Given the description of an element on the screen output the (x, y) to click on. 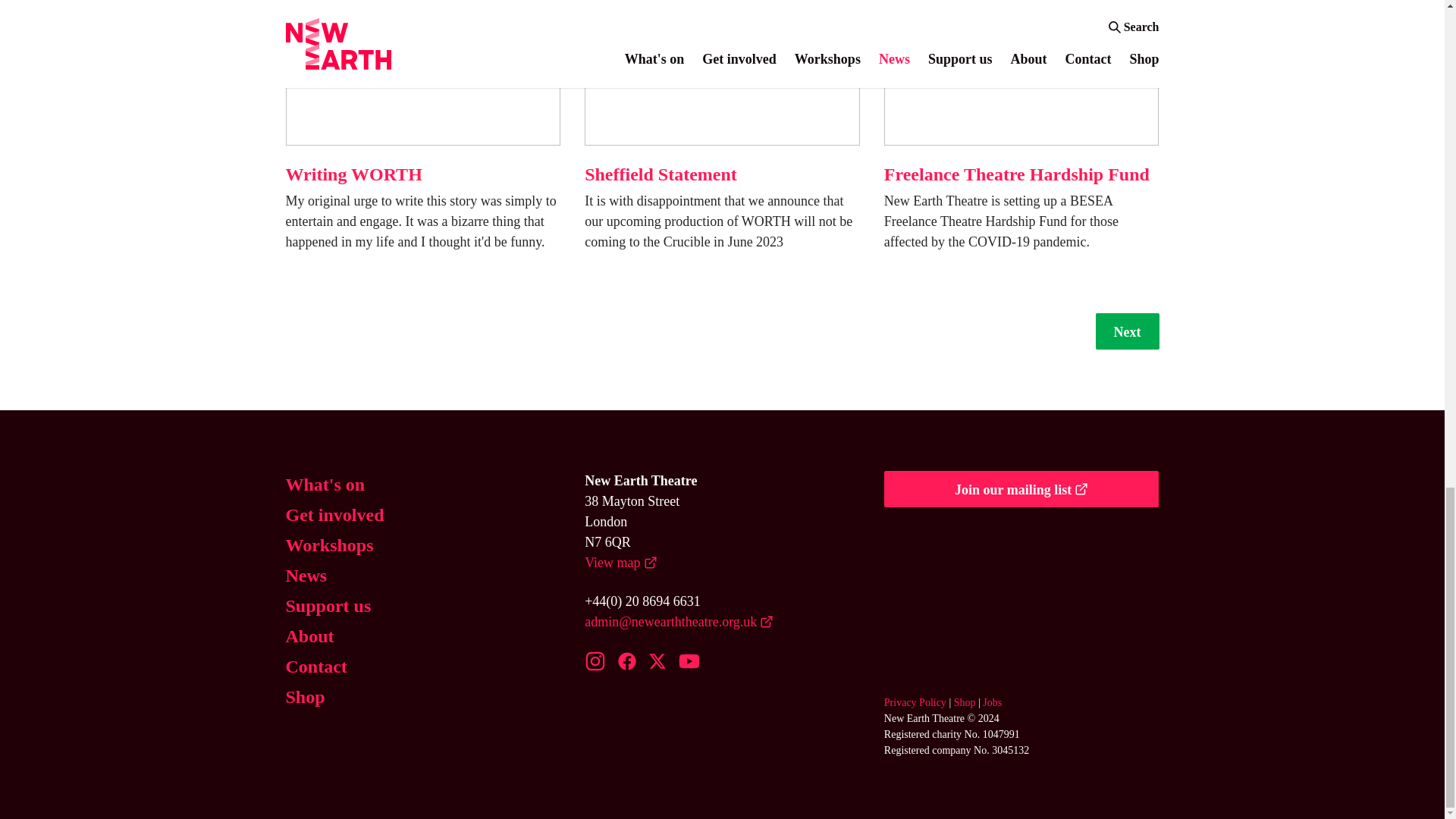
Freelance Theatre Hardship Fund (1016, 174)
Writing WORTH (353, 174)
Workshops (328, 544)
News (305, 574)
What's on (325, 483)
Next (1127, 330)
Sheffield Statement (660, 174)
Get involved (334, 514)
